Given the description of an element on the screen output the (x, y) to click on. 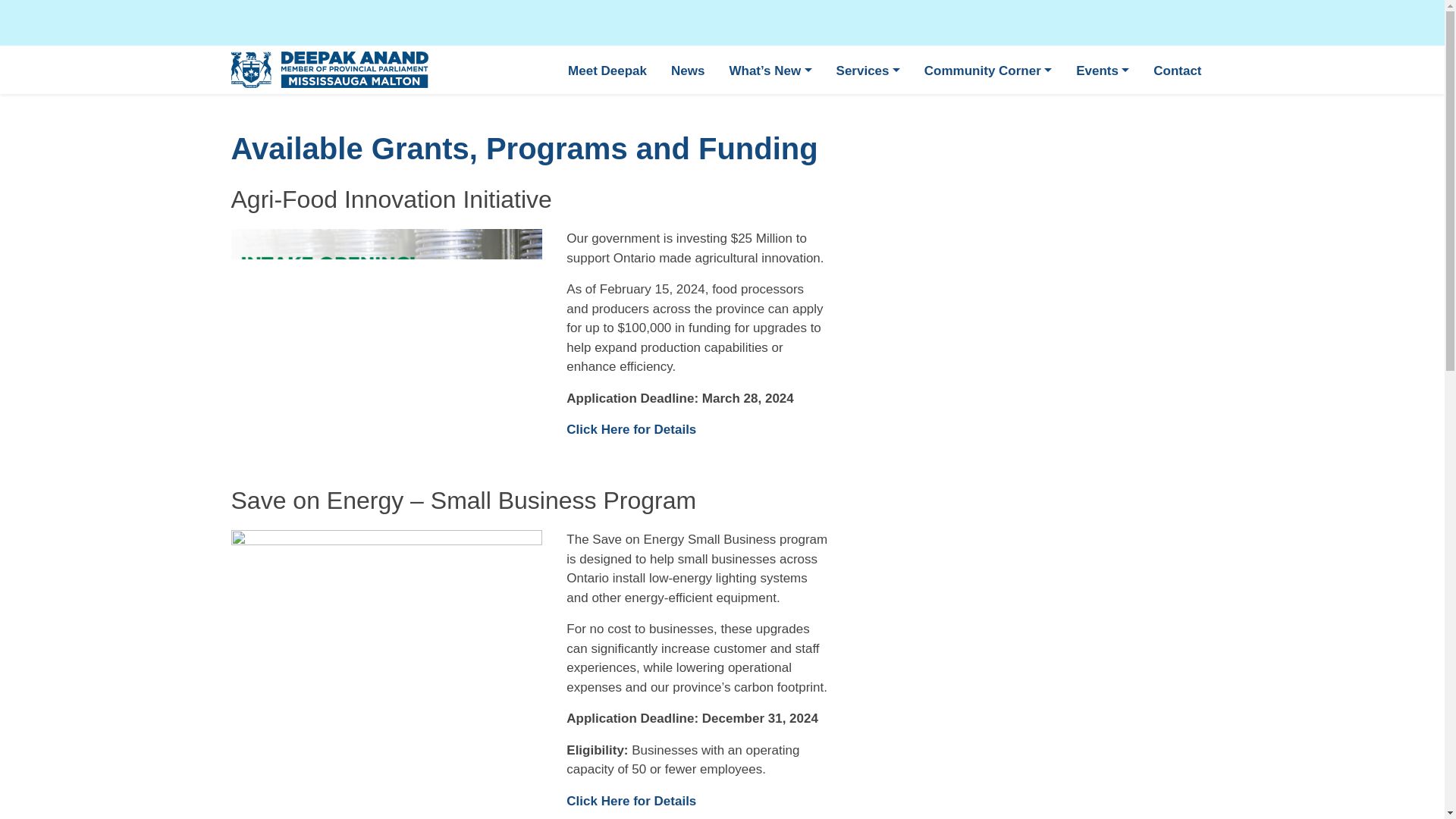
Click Here for Details (630, 429)
Services (868, 69)
Contact (1176, 69)
Events (1102, 69)
Meet Deepak (607, 69)
News (687, 69)
Click Here for Details (630, 800)
Community Corner (988, 69)
